Given the description of an element on the screen output the (x, y) to click on. 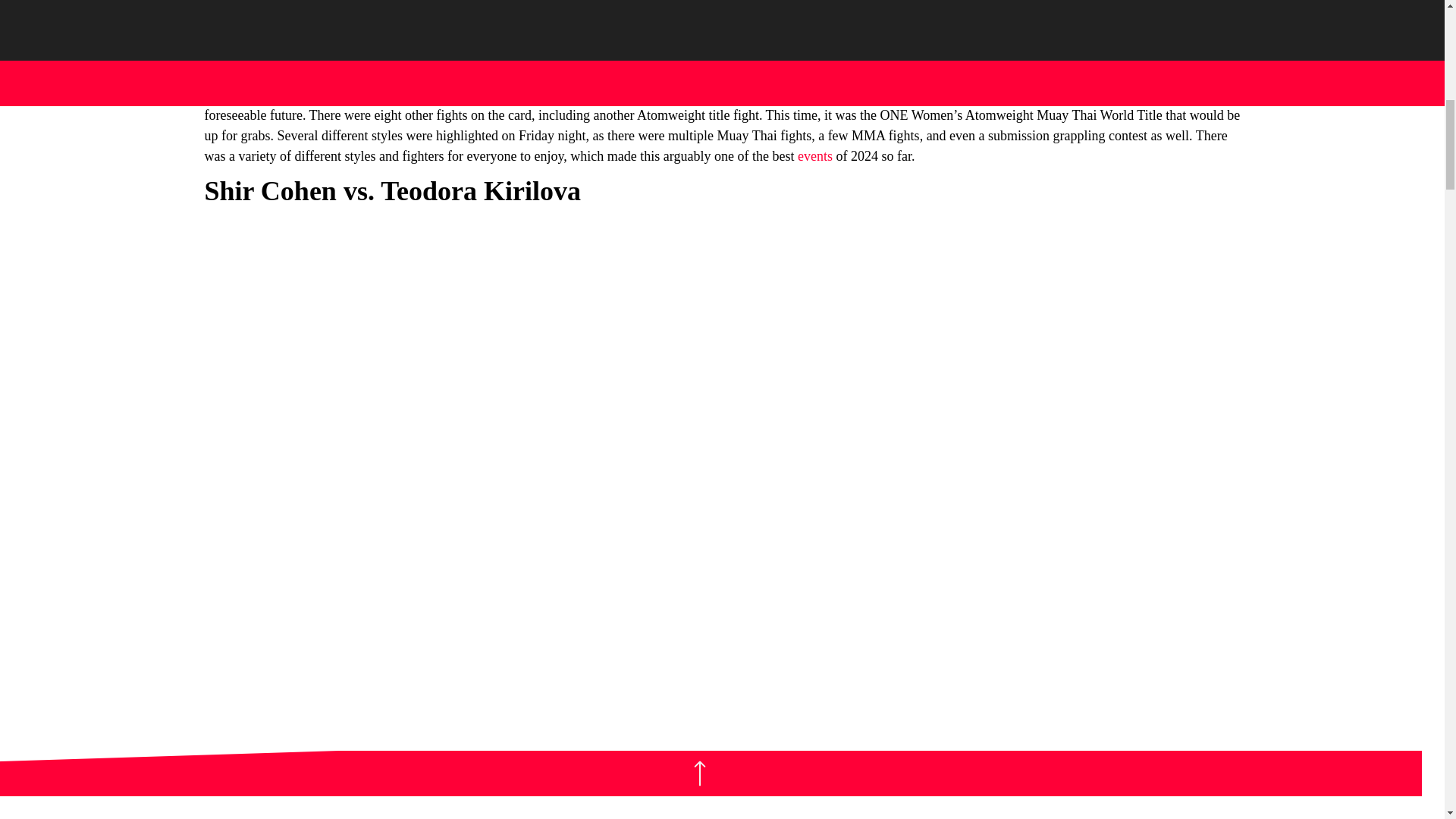
events (814, 155)
ONE Championship (826, 46)
ONE Fight Night (360, 25)
right here (423, 66)
